Given the description of an element on the screen output the (x, y) to click on. 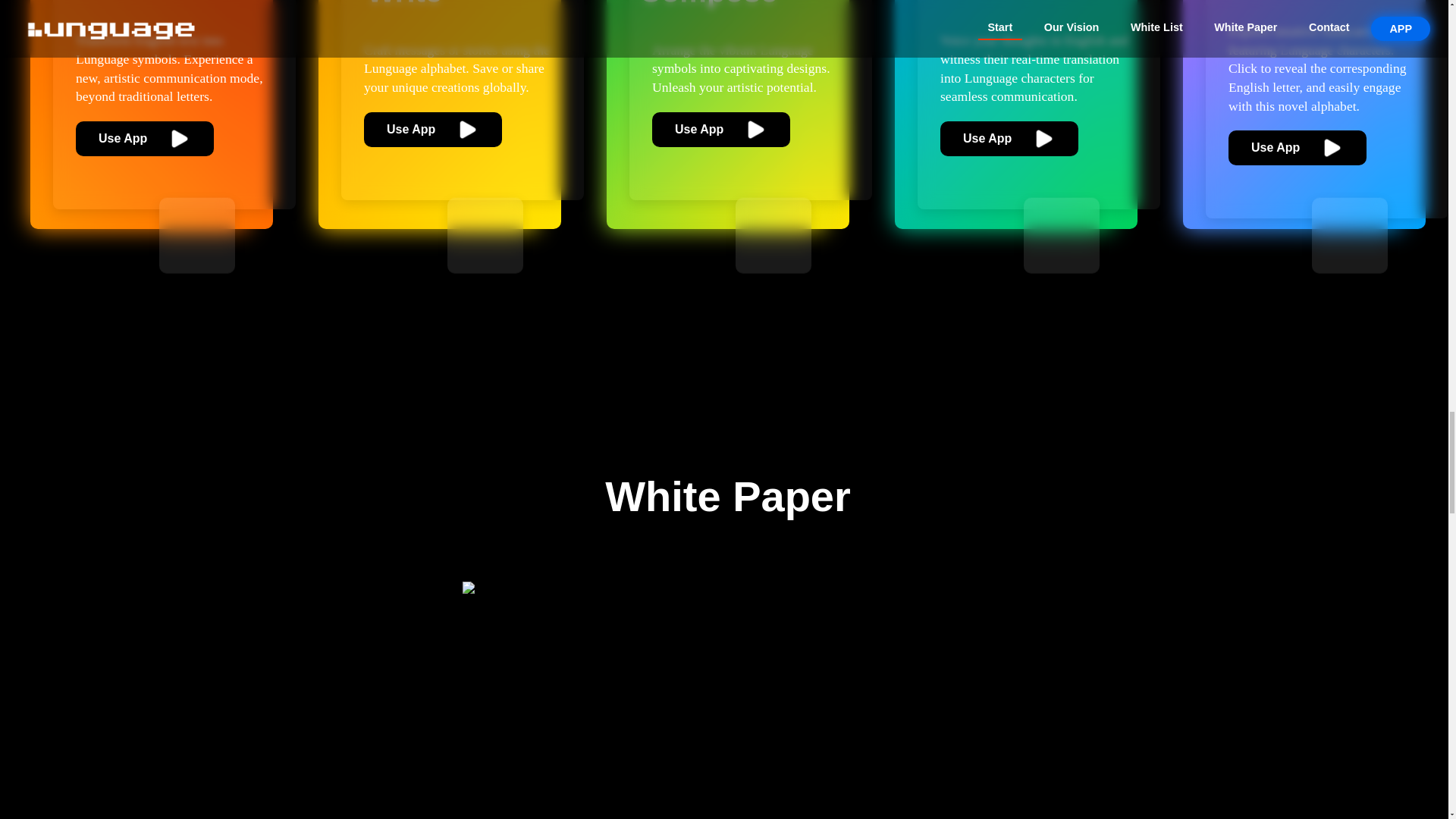
Use App (462, 129)
Use App (750, 129)
Use App (1038, 138)
Use App (174, 138)
Use App (1326, 147)
